Given the description of an element on the screen output the (x, y) to click on. 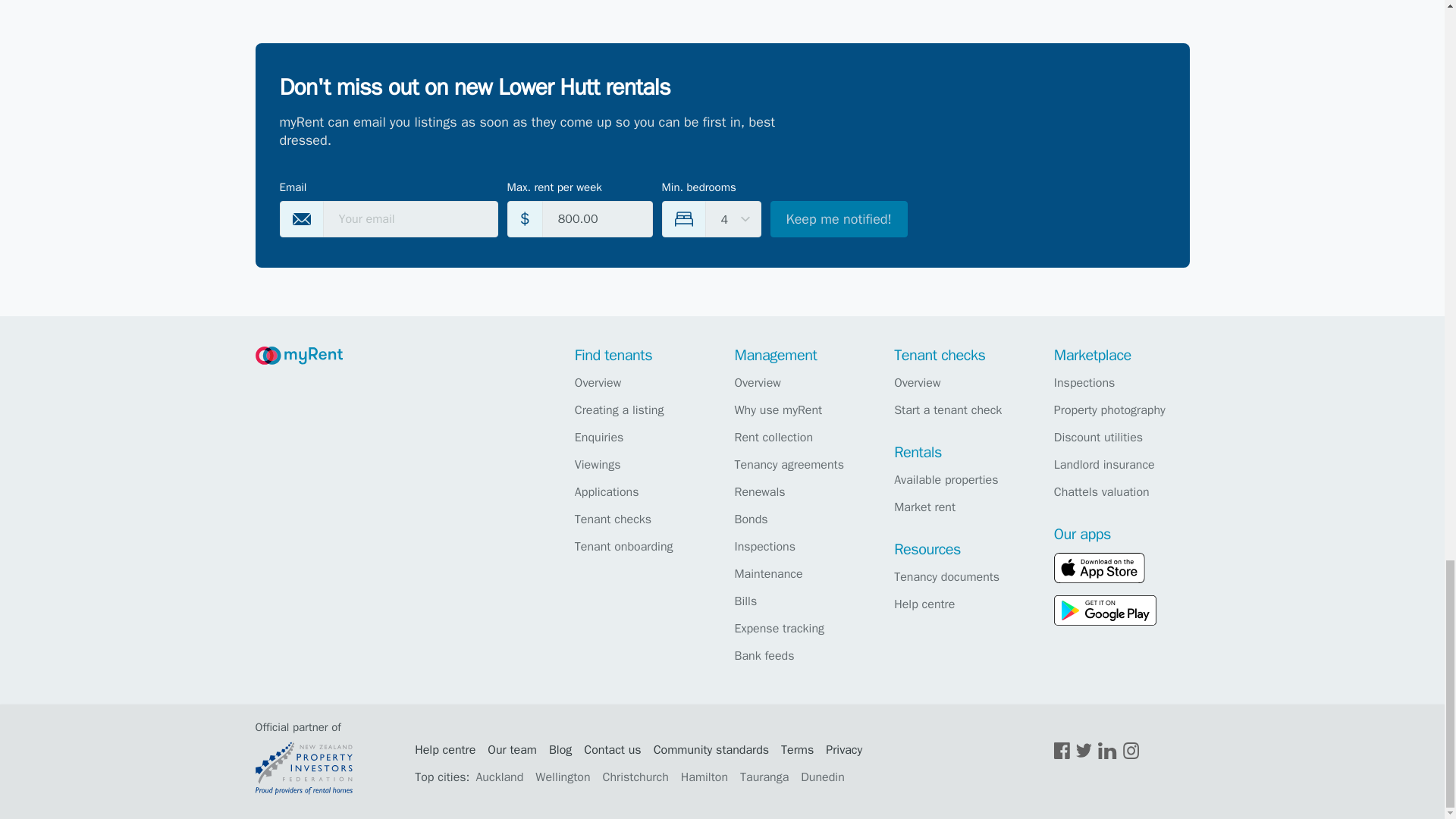
Overview (639, 382)
Enquiries (639, 437)
Find tenants (613, 354)
Viewings (639, 464)
Tenant checks (639, 519)
Keep me notified! (838, 218)
800.00 (596, 218)
Keep me notified! (838, 218)
Creating a listing (639, 410)
Applications (639, 492)
